Given the description of an element on the screen output the (x, y) to click on. 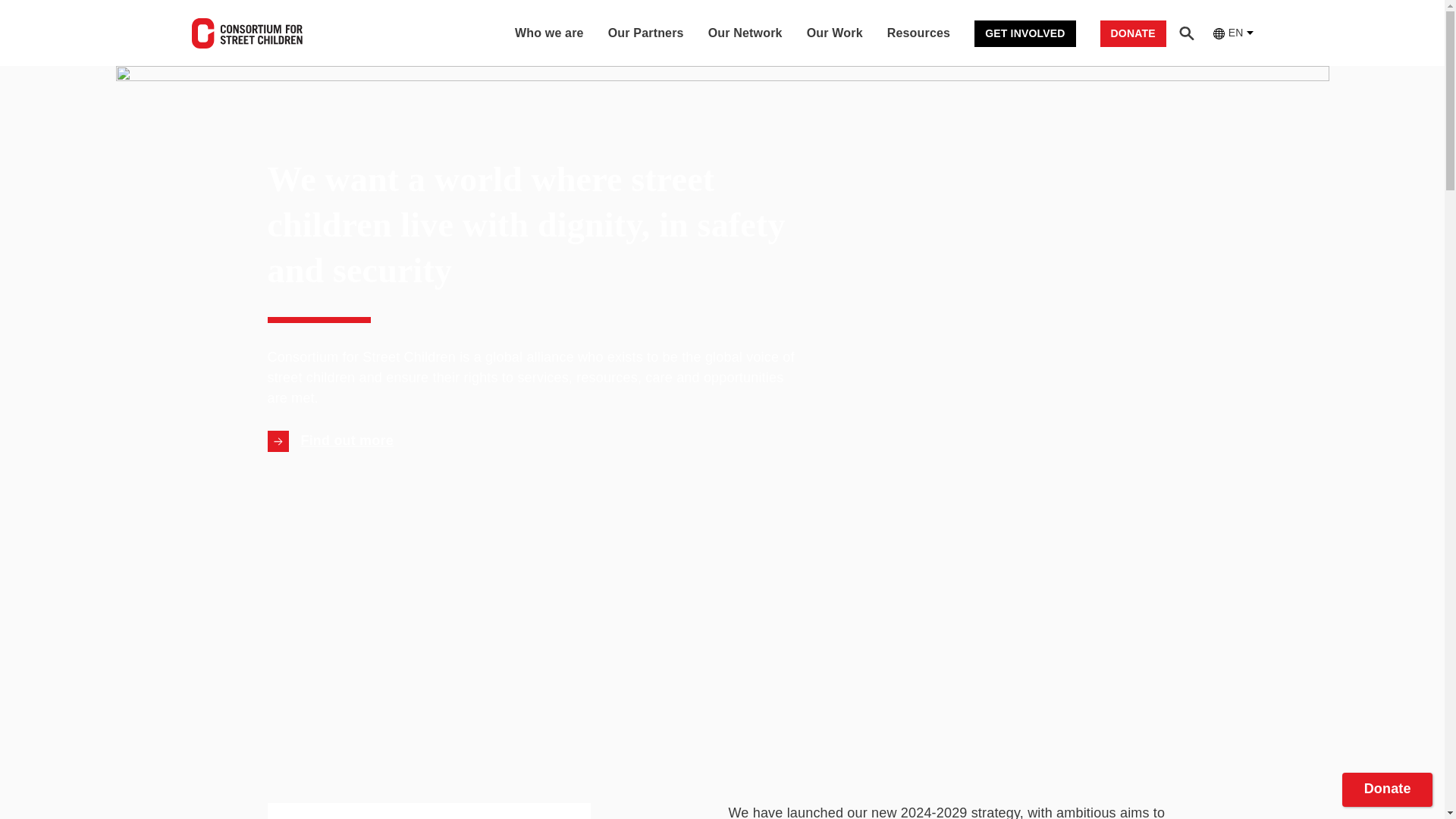
Our Partners (646, 33)
Our Work (834, 33)
Go to homepage (245, 33)
Go to search (1186, 32)
Who we are (549, 33)
Resources (918, 33)
GET INVOLVED (1024, 32)
Our Network (745, 33)
Go to content (428, 816)
